Given the description of an element on the screen output the (x, y) to click on. 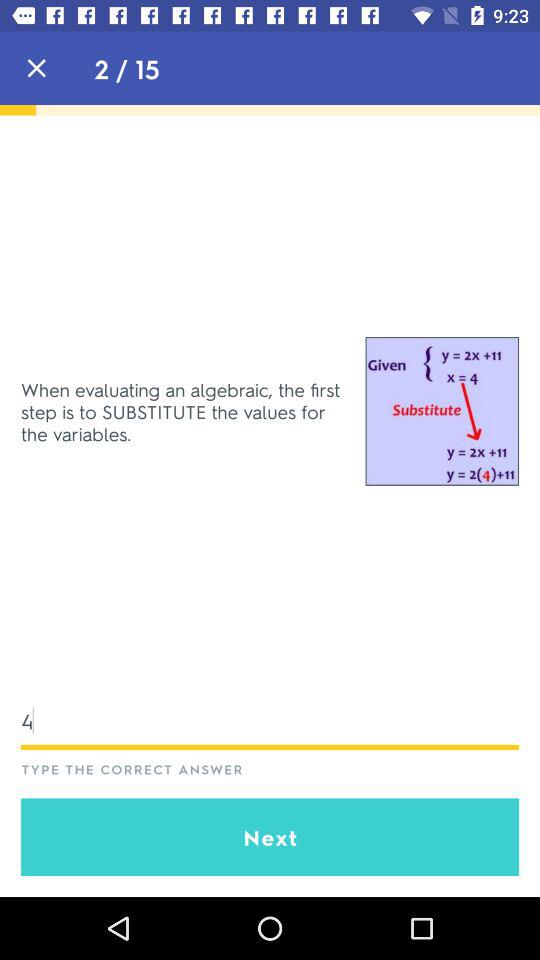
jump until the next icon (270, 837)
